Given the description of an element on the screen output the (x, y) to click on. 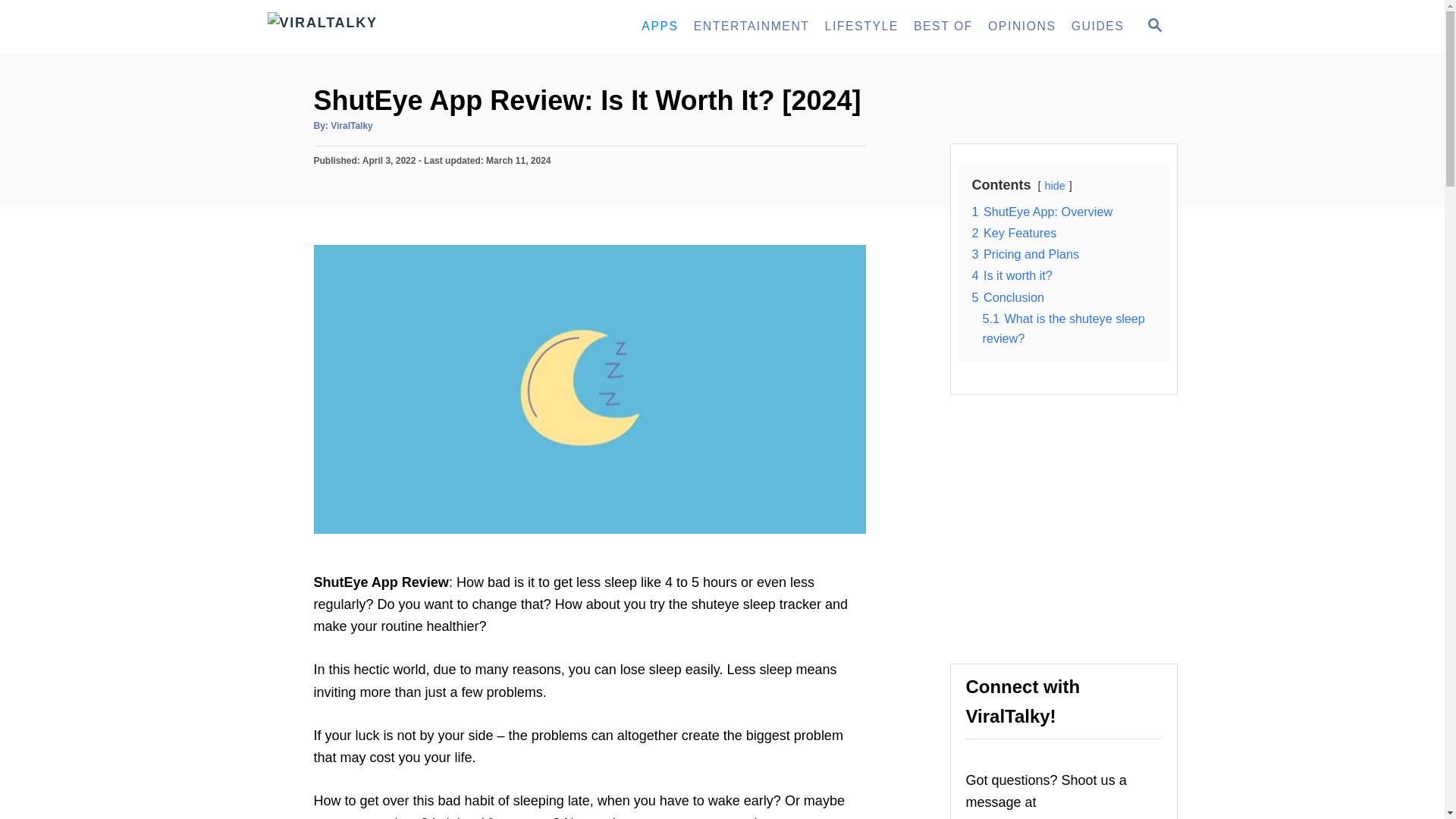
ViralTalky (351, 125)
SEARCH (1153, 26)
GUIDES (1098, 26)
hide (1055, 185)
LIFESTYLE (860, 26)
ViralTalky (403, 26)
APPS (659, 26)
OPINIONS (1021, 26)
ENTERTAINMENT (750, 26)
BEST OF (942, 26)
